Given the description of an element on the screen output the (x, y) to click on. 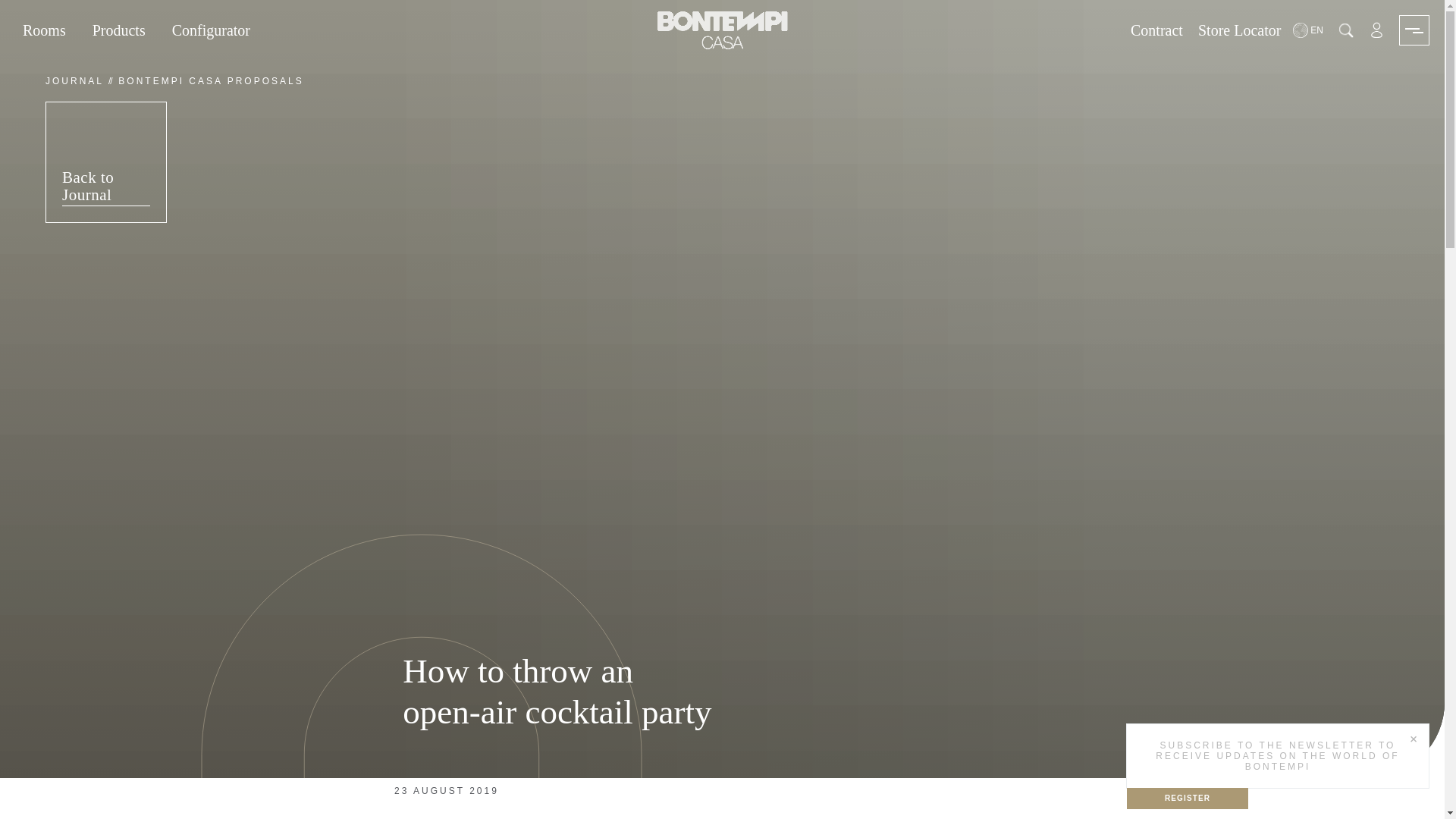
Rooms (44, 29)
Search (1345, 30)
Products (118, 29)
EN (1309, 29)
Configurator (210, 29)
Store Locator (1239, 29)
Contract (1156, 29)
Reserved Area (1376, 30)
